Given the description of an element on the screen output the (x, y) to click on. 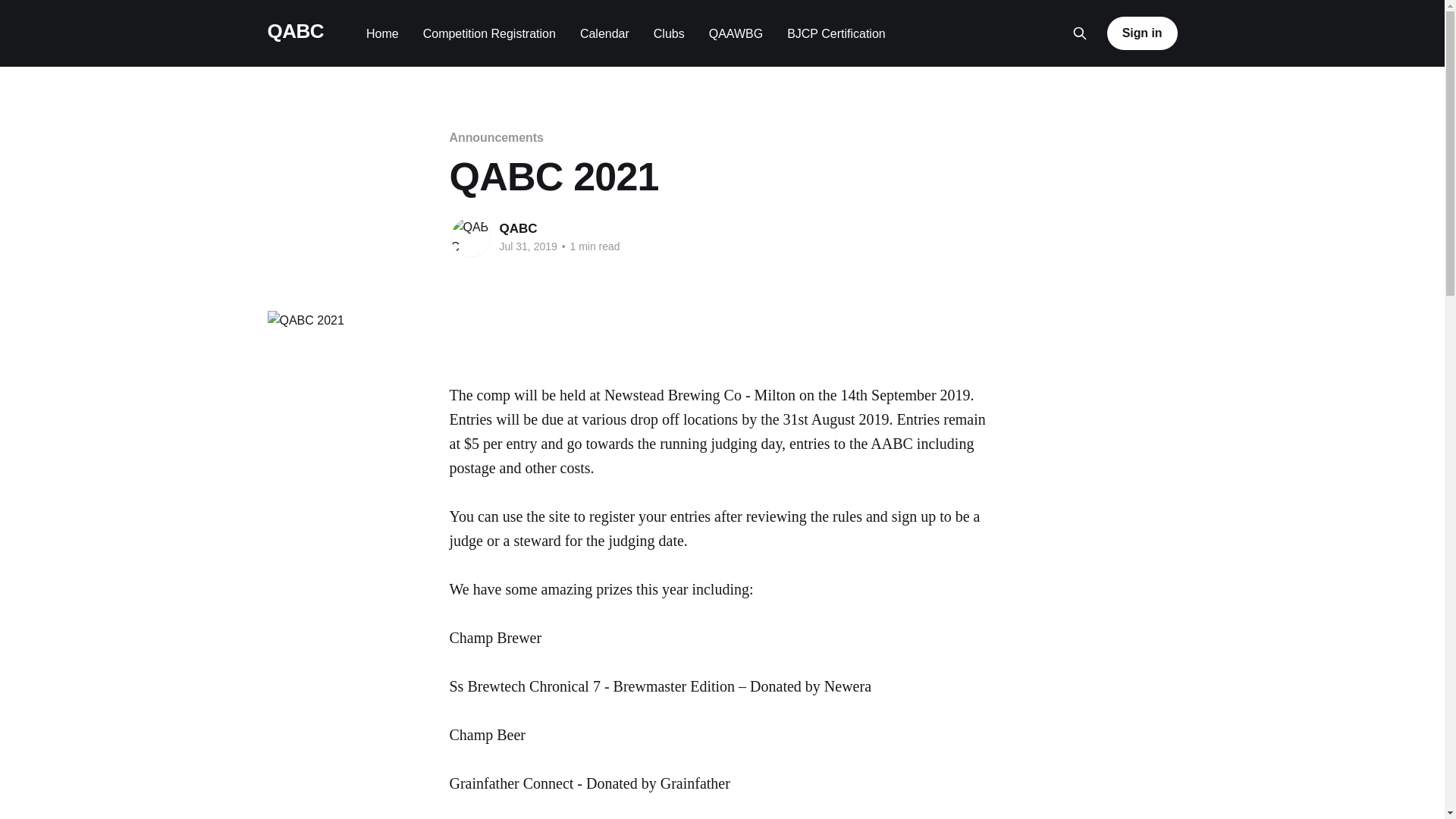
QABC Element type: text (517, 228)
BJCP Certification Element type: text (836, 33)
QABC Element type: text (294, 31)
QAAWBG Element type: text (735, 33)
Home Element type: text (382, 33)
Announcements Element type: text (495, 137)
Calendar Element type: text (604, 33)
Sign in Element type: text (1142, 33)
Competition Registration Element type: text (489, 33)
Clubs Element type: text (668, 33)
